Given the description of an element on the screen output the (x, y) to click on. 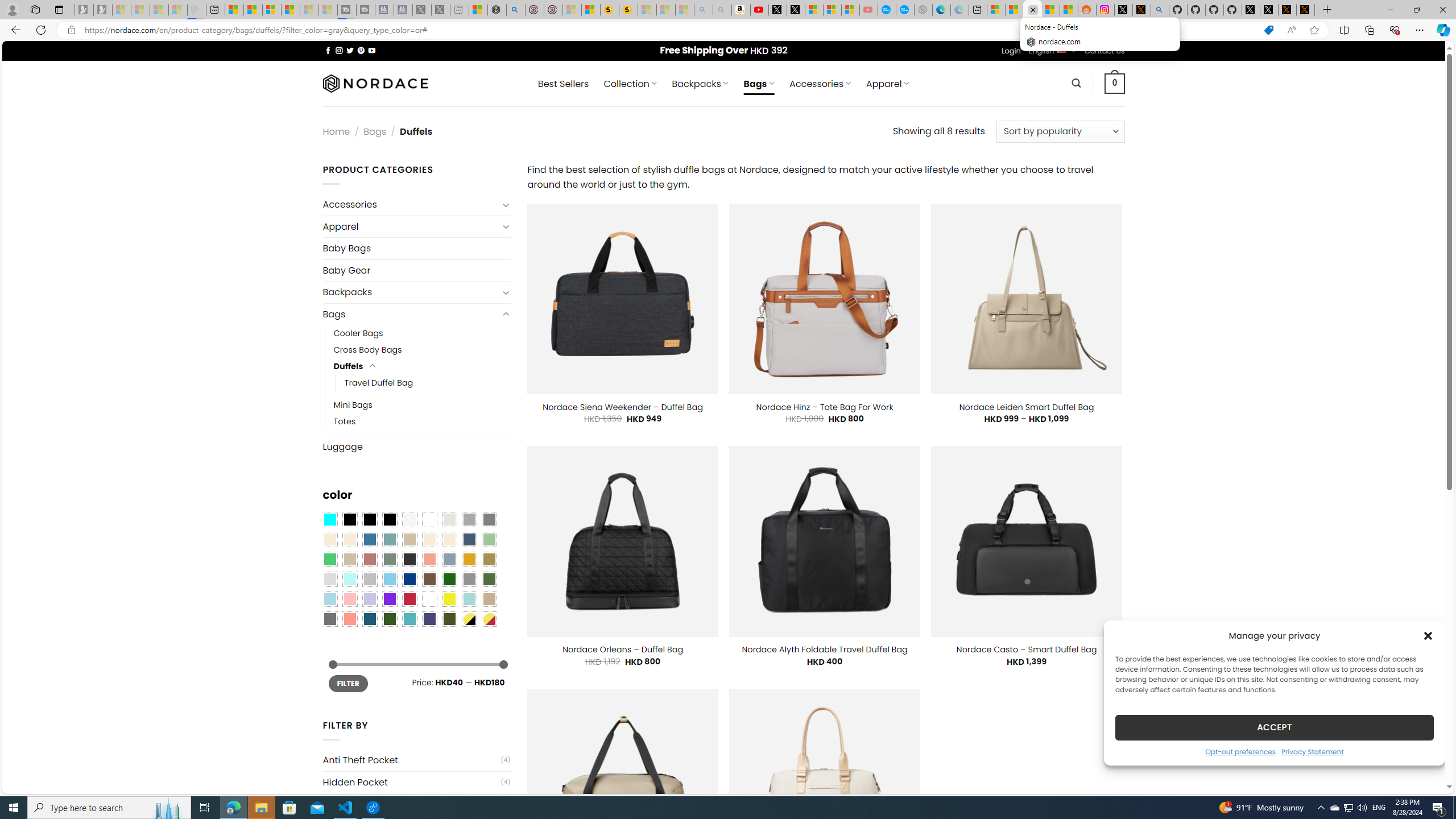
Cream (449, 539)
Baby Bags (416, 248)
Privacy Statement (1312, 750)
Backpacks (410, 292)
Shop order (1060, 131)
All Gray (488, 519)
Forest (389, 618)
Dark Gray (468, 519)
